Given the description of an element on the screen output the (x, y) to click on. 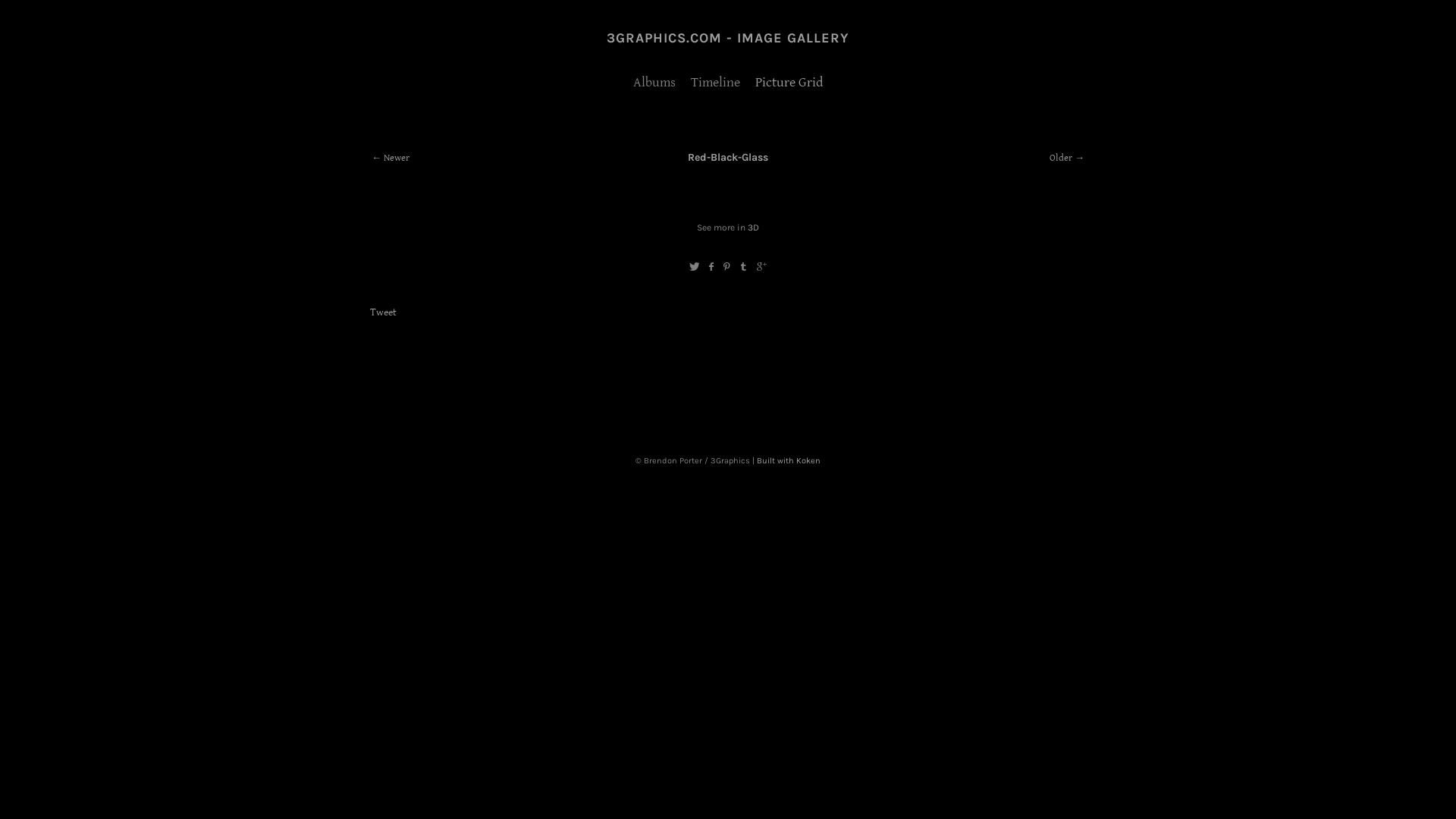
View SunSetAbtract Element type: hover (536, 385)
Albums Element type: text (654, 82)
View Shadows Element type: hover (679, 385)
View ReflectSide Element type: hover (823, 385)
View ReflectUnder Element type: hover (727, 385)
View ReflectSide2 Element type: hover (775, 385)
View StructurePainFX Element type: hover (584, 385)
3GRAPHICS.COM - IMAGE GALLERY Element type: text (727, 37)
Newer Element type: text (390, 157)
Tweet Element type: text (383, 312)
View GlassAngle Element type: hover (918, 385)
Older Element type: text (1066, 157)
3D Element type: text (753, 227)
View SharpAngles Element type: hover (632, 385)
Timeline Element type: text (715, 82)
Picture Grid Element type: text (788, 82)
Built with Koken Element type: text (788, 460)
